Given the description of an element on the screen output the (x, y) to click on. 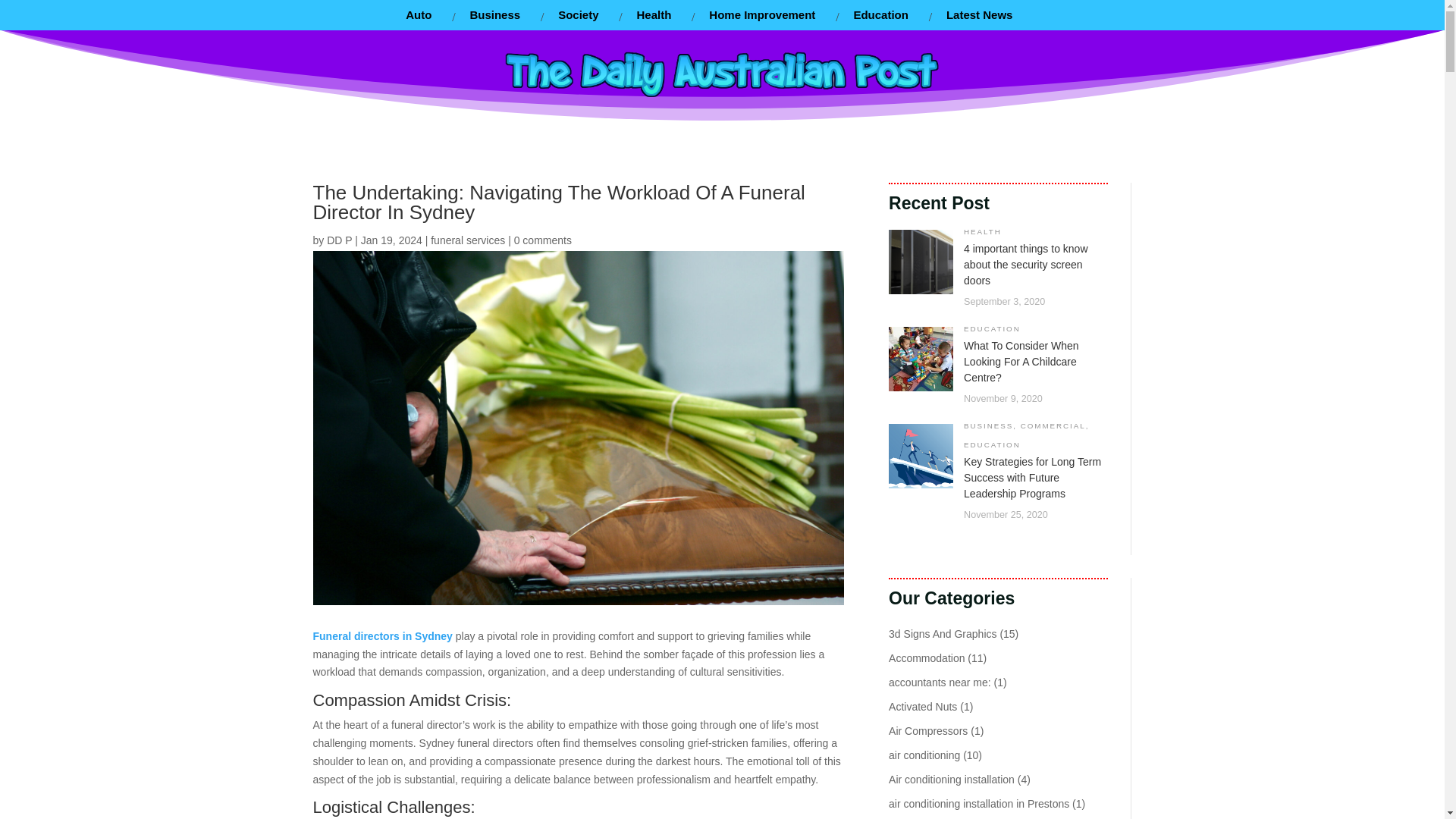
newlogo (722, 73)
Society (578, 15)
Activated Nuts (922, 706)
EDUCATION (991, 328)
Education (880, 15)
4 important things to know about the security screen doors (1025, 264)
Air Compressors (928, 730)
November 25, 2020 (1005, 514)
HEALTH (982, 231)
air conditioning installation in Prestons (978, 803)
